Given the description of an element on the screen output the (x, y) to click on. 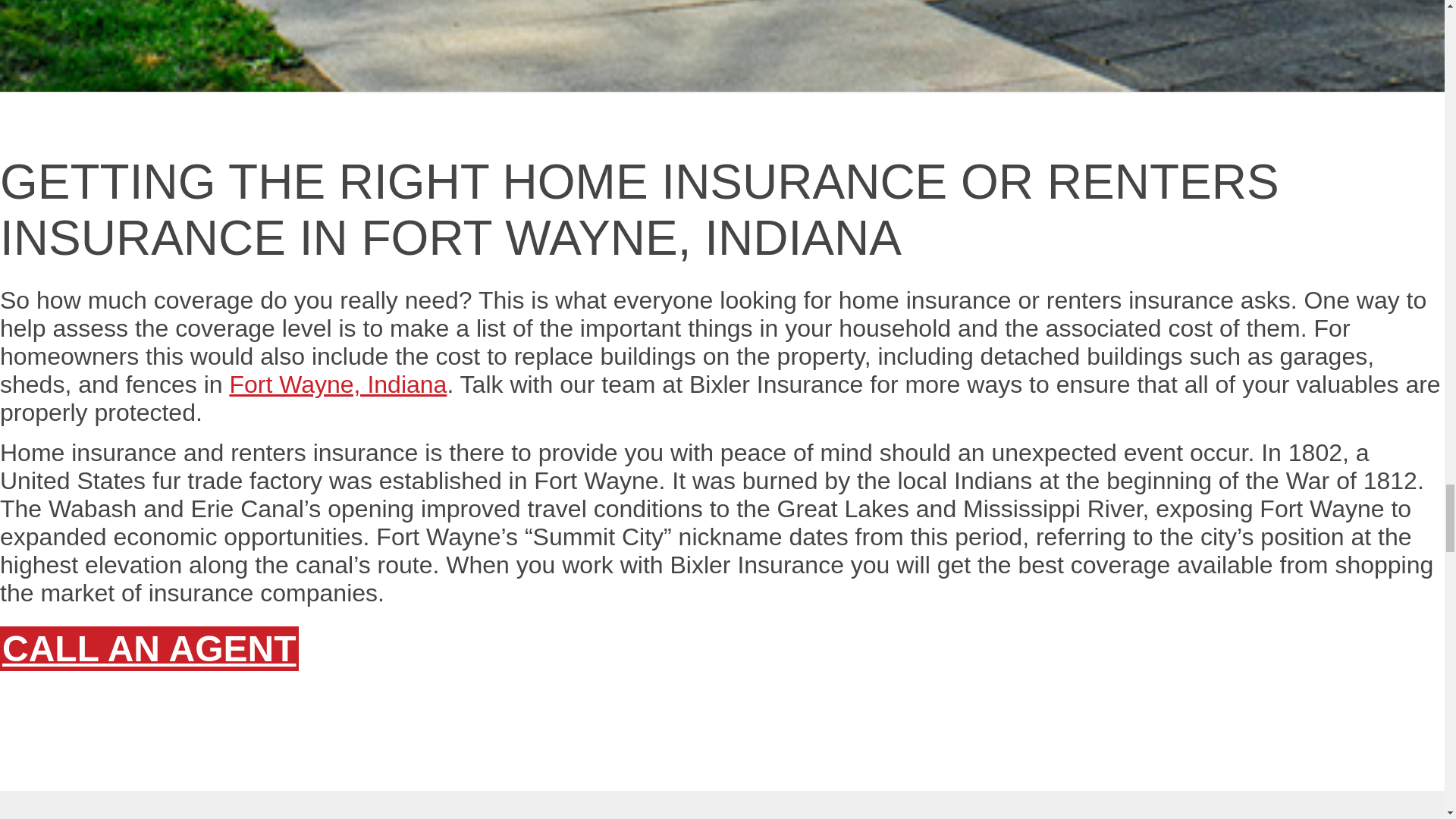
Fort Wayne, Indiana (337, 384)
